Given the description of an element on the screen output the (x, y) to click on. 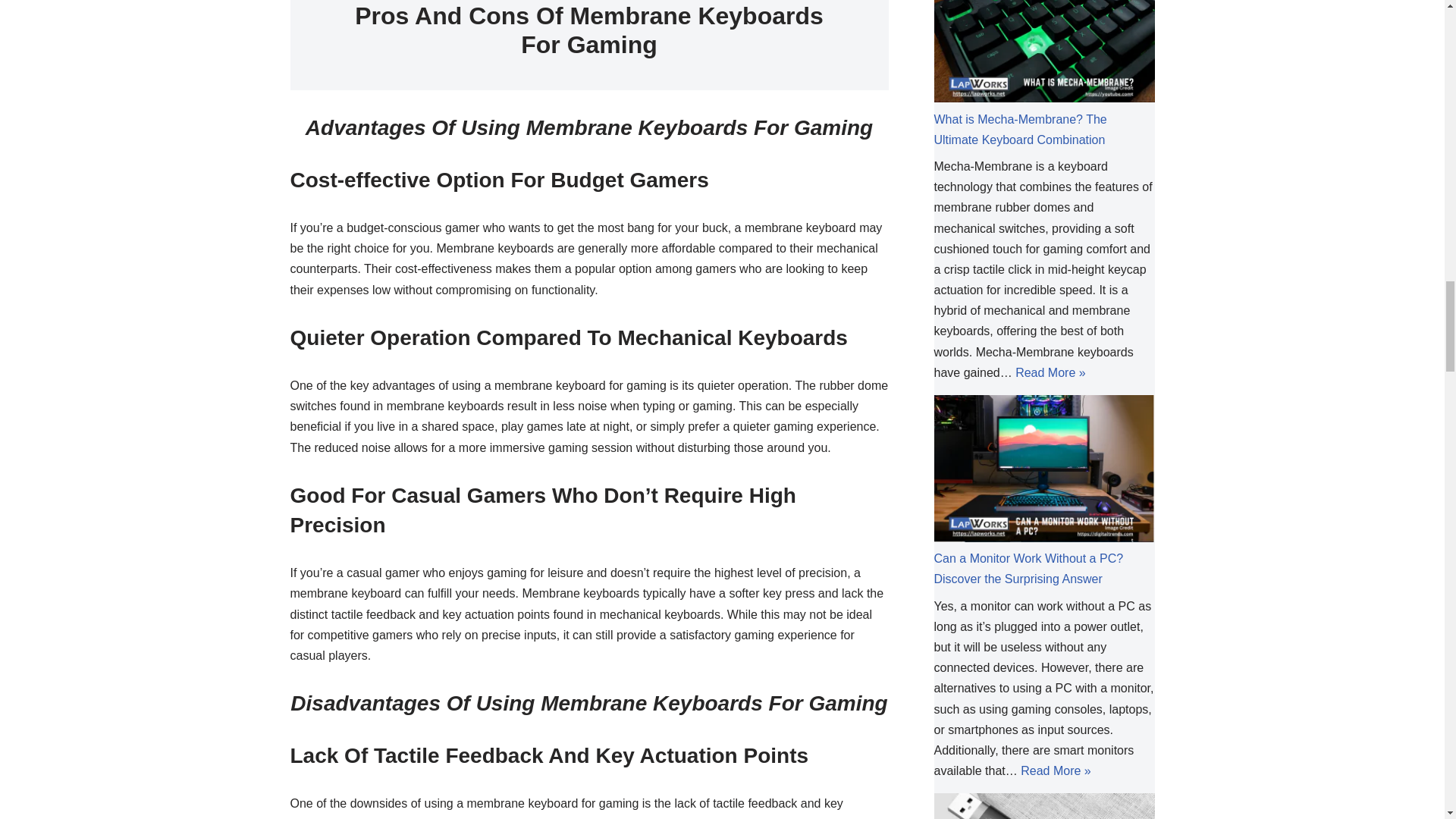
What is Mecha-Membrane? The Ultimate Keyboard Combination (1020, 129)
